Given the description of an element on the screen output the (x, y) to click on. 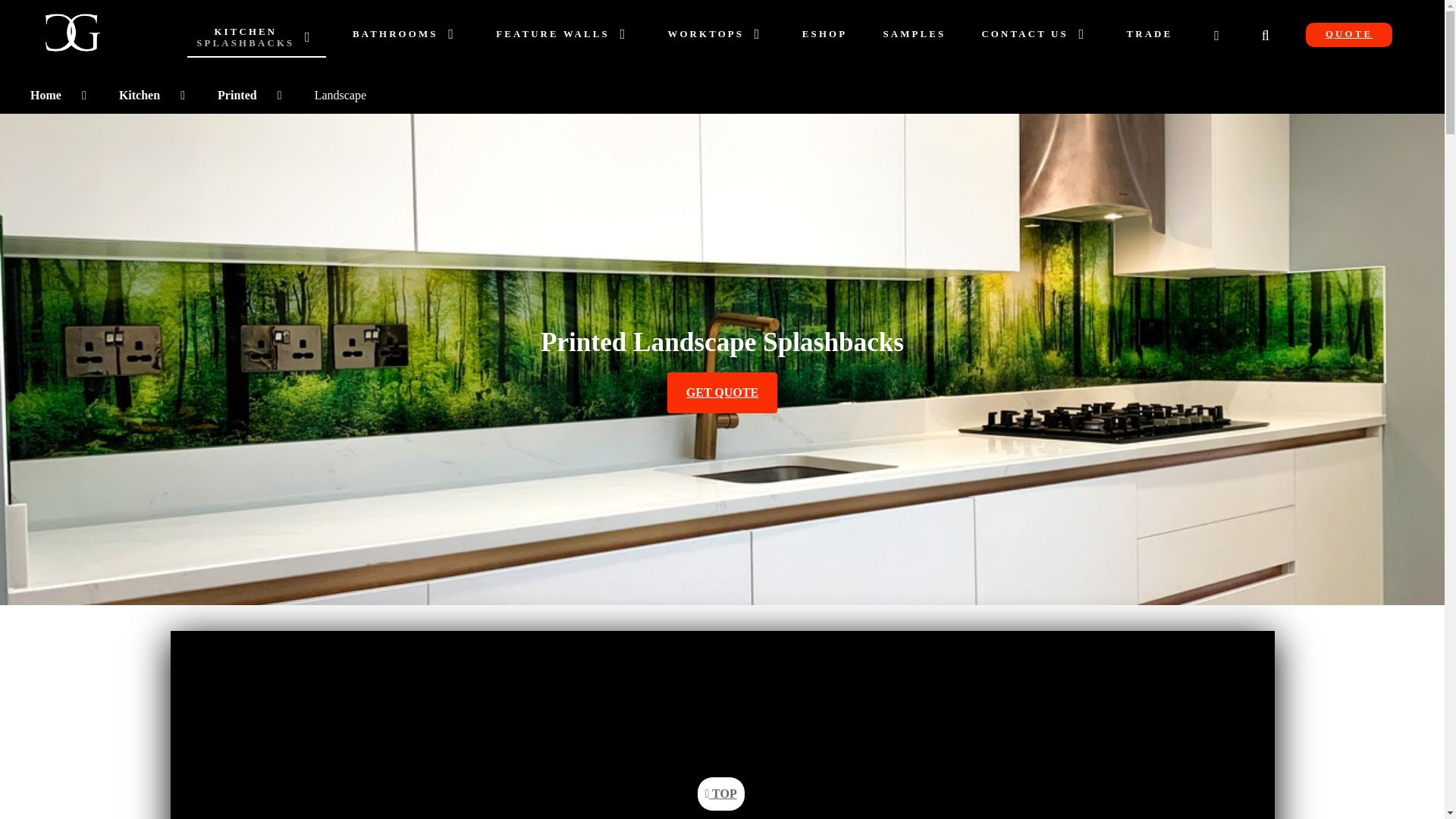
Creo Glass (72, 41)
